Given the description of an element on the screen output the (x, y) to click on. 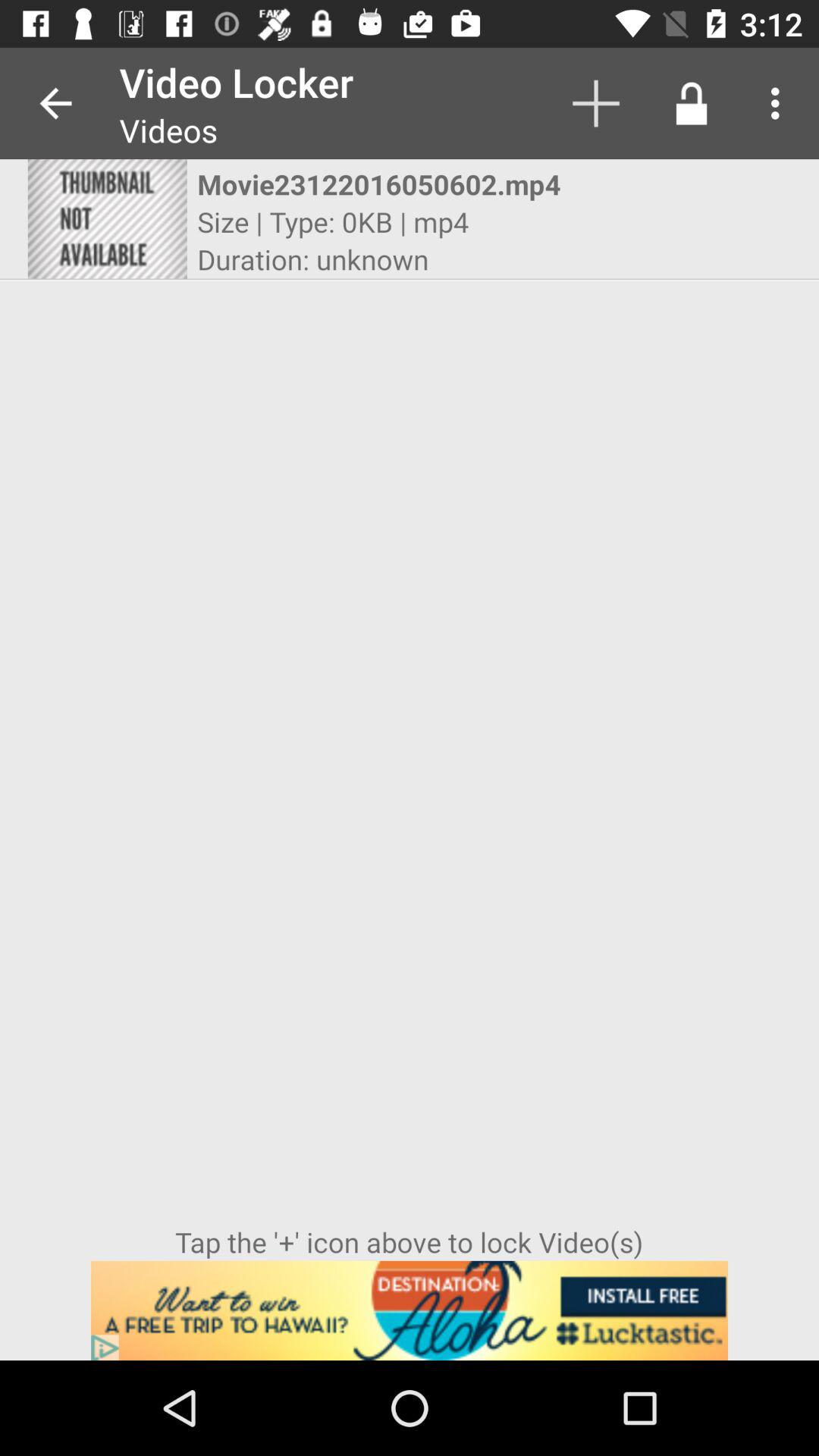
scroll until size type 0kb (333, 221)
